Given the description of an element on the screen output the (x, y) to click on. 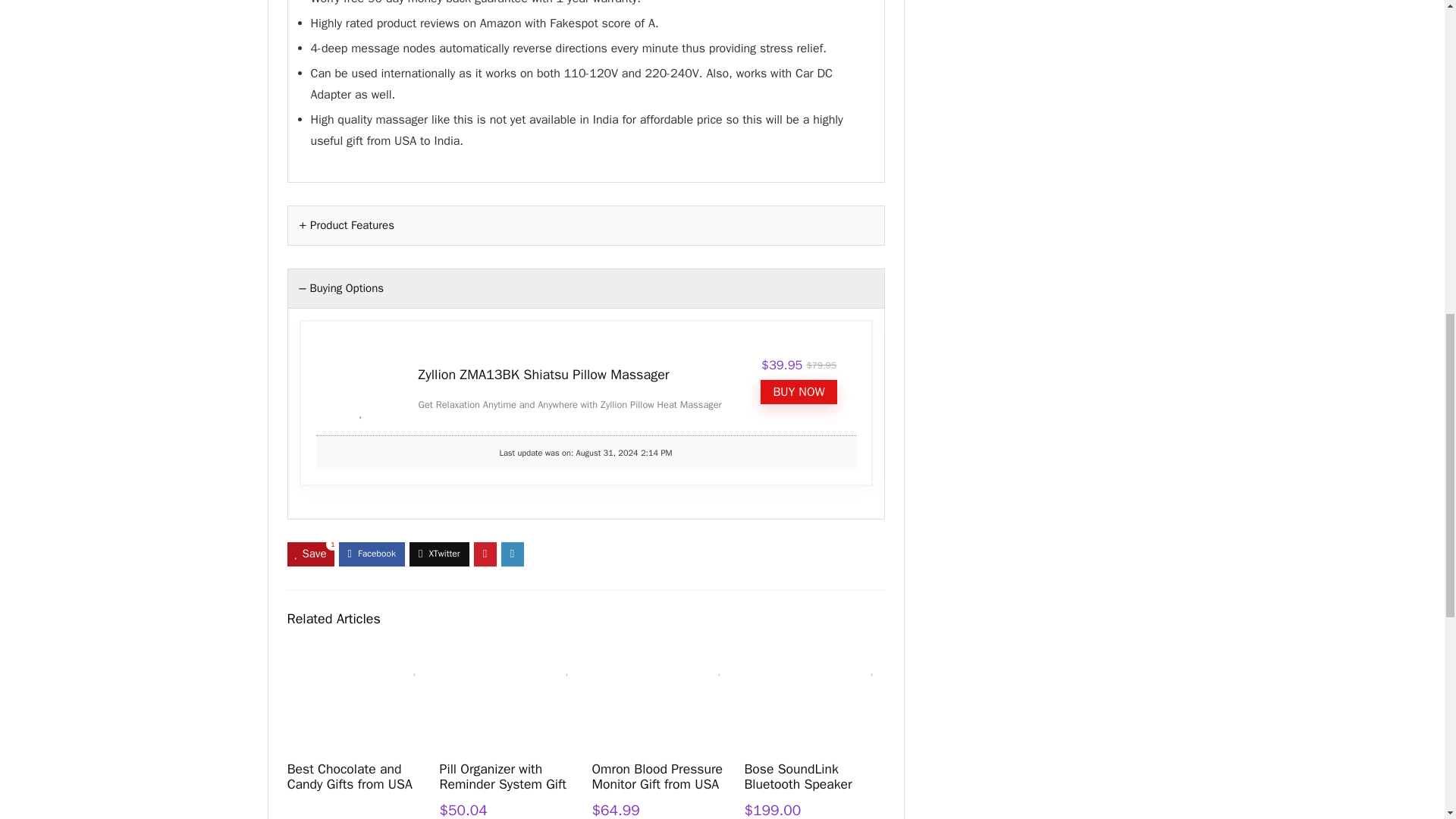
BUY NOW (797, 392)
Omron Blood Pressure Monitor Gift from USA (656, 776)
Best Chocolate and Candy Gifts from USA (349, 776)
Pill Organizer with Reminder System Gift (502, 776)
Zyllion ZMA13BK Shiatsu Pillow Massager (544, 374)
